Given the description of an element on the screen output the (x, y) to click on. 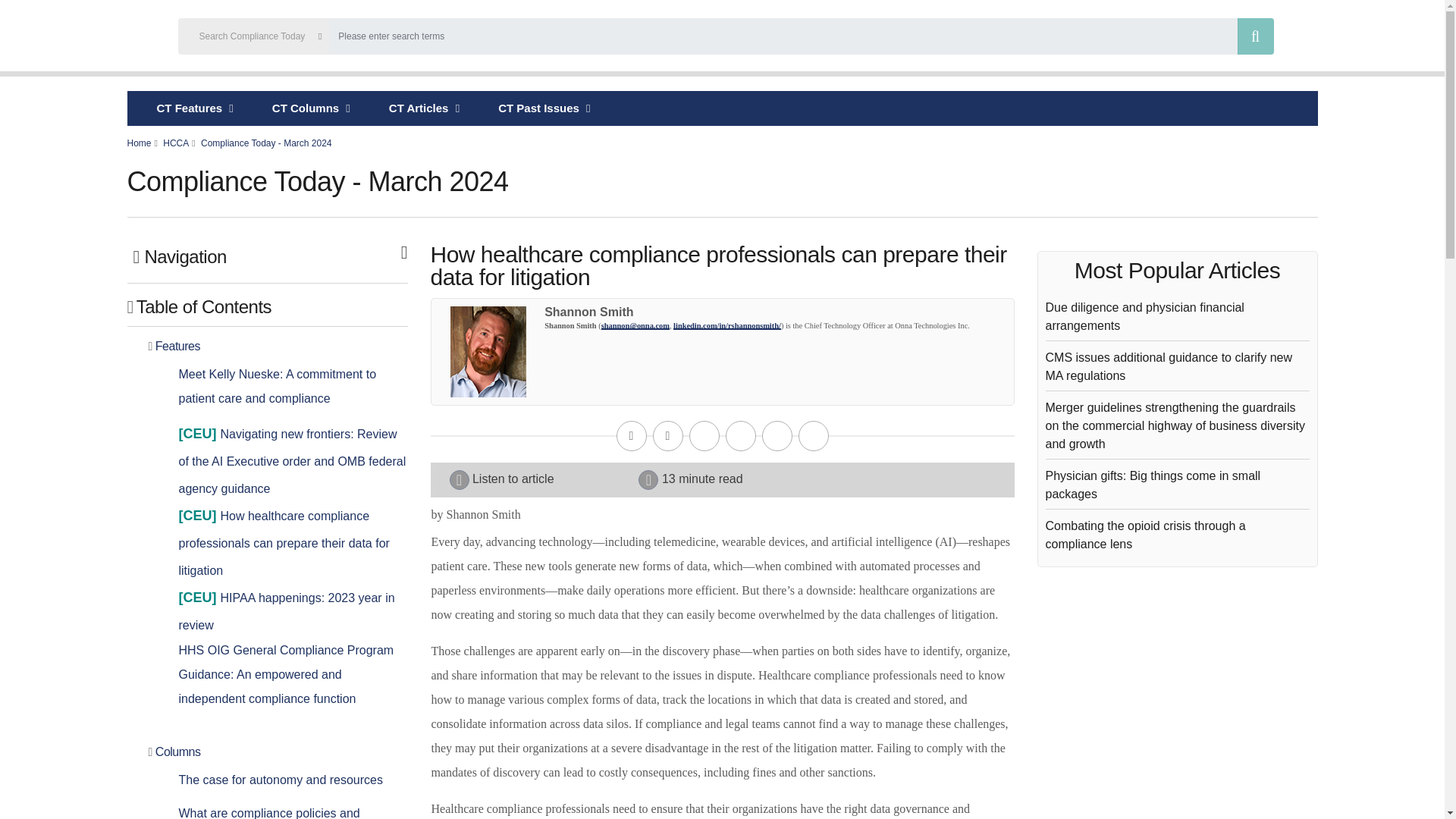
Home (86, 38)
Skip to main content (721, 1)
Share to Facebook (703, 435)
Search (1255, 36)
Search Compliance Today (726, 38)
Log in (1380, 38)
Enter the terms you wish to search for. (783, 36)
MyCOSMOS (1329, 38)
